Given the description of an element on the screen output the (x, y) to click on. 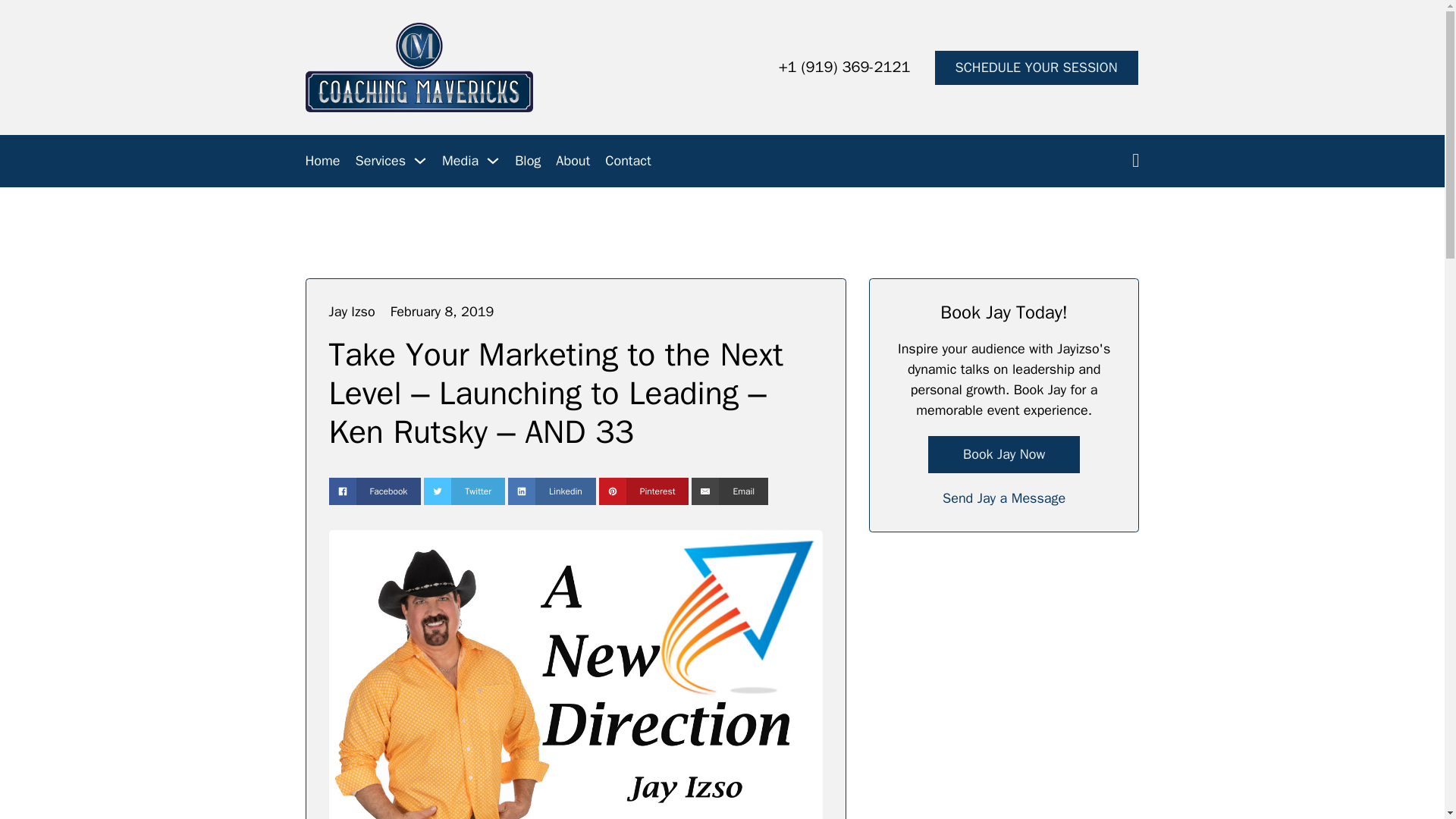
Blog (527, 160)
SCHEDULE YOUR SESSION (1036, 67)
Home (321, 160)
About (572, 160)
Services (380, 160)
Contact (627, 160)
Media (460, 160)
